Given the description of an element on the screen output the (x, y) to click on. 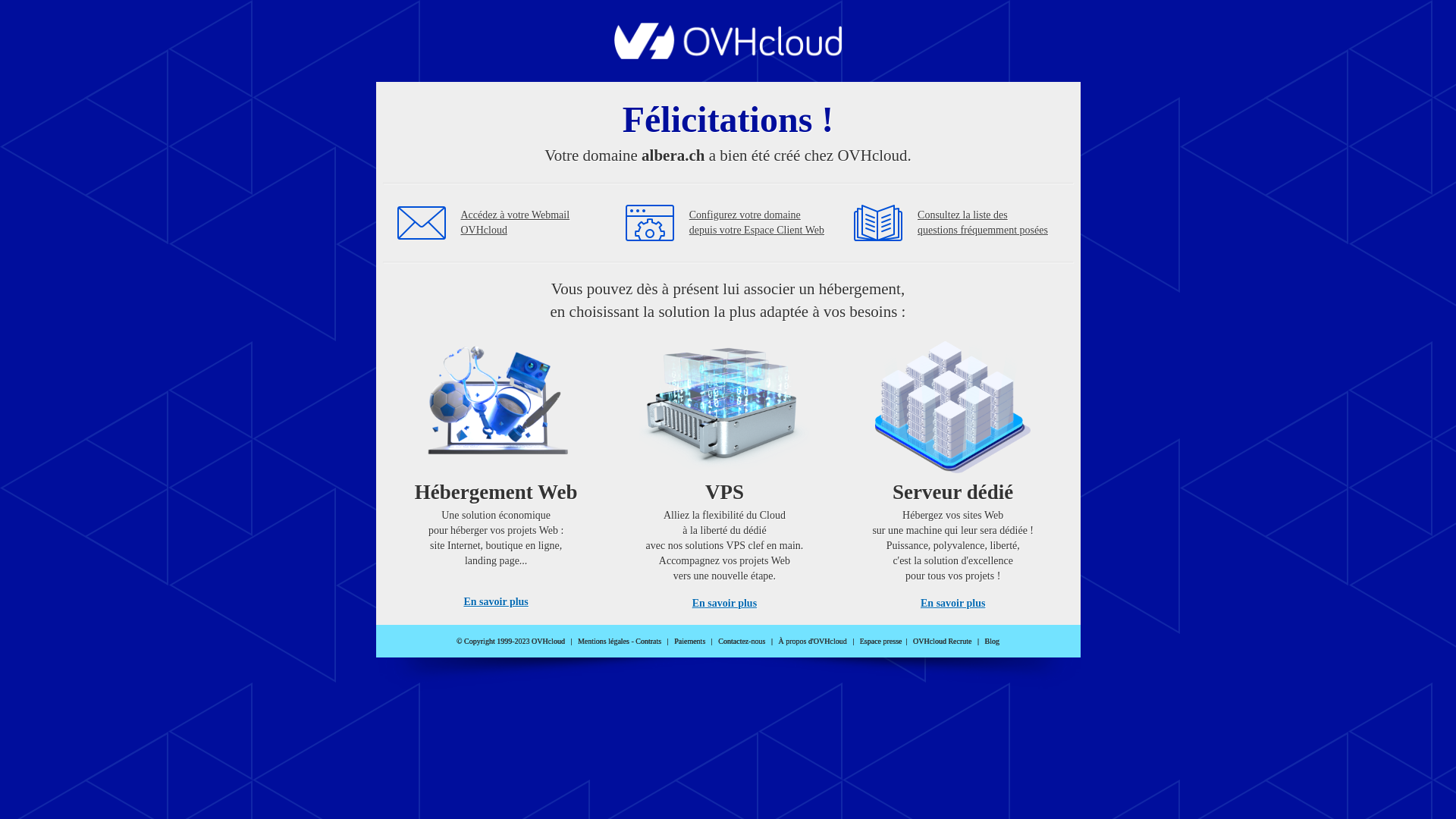
En savoir plus Element type: text (495, 601)
OVHcloud Recrute Element type: text (942, 641)
En savoir plus Element type: text (952, 602)
Blog Element type: text (992, 641)
VPS Element type: hover (724, 469)
En savoir plus Element type: text (724, 602)
Contactez-nous Element type: text (741, 641)
OVHcloud Element type: hover (727, 54)
Configurez votre domaine
depuis votre Espace Client Web Element type: text (756, 222)
Paiements Element type: text (689, 641)
Espace presse Element type: text (880, 641)
